Given the description of an element on the screen output the (x, y) to click on. 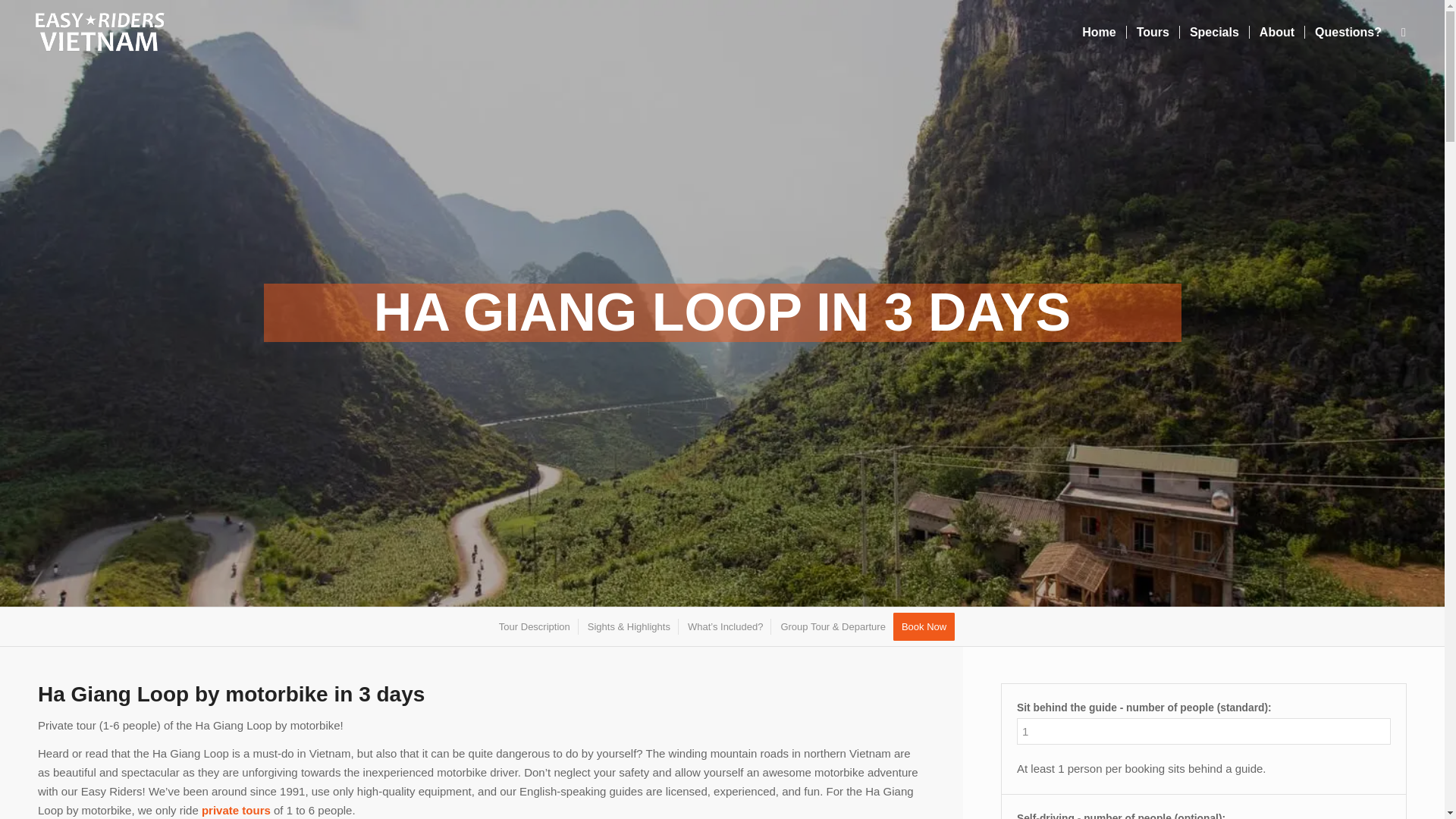
Book Now (924, 626)
Tour Description (533, 626)
Specials (1214, 32)
Questions? (1347, 32)
1 (1203, 731)
